Given the description of an element on the screen output the (x, y) to click on. 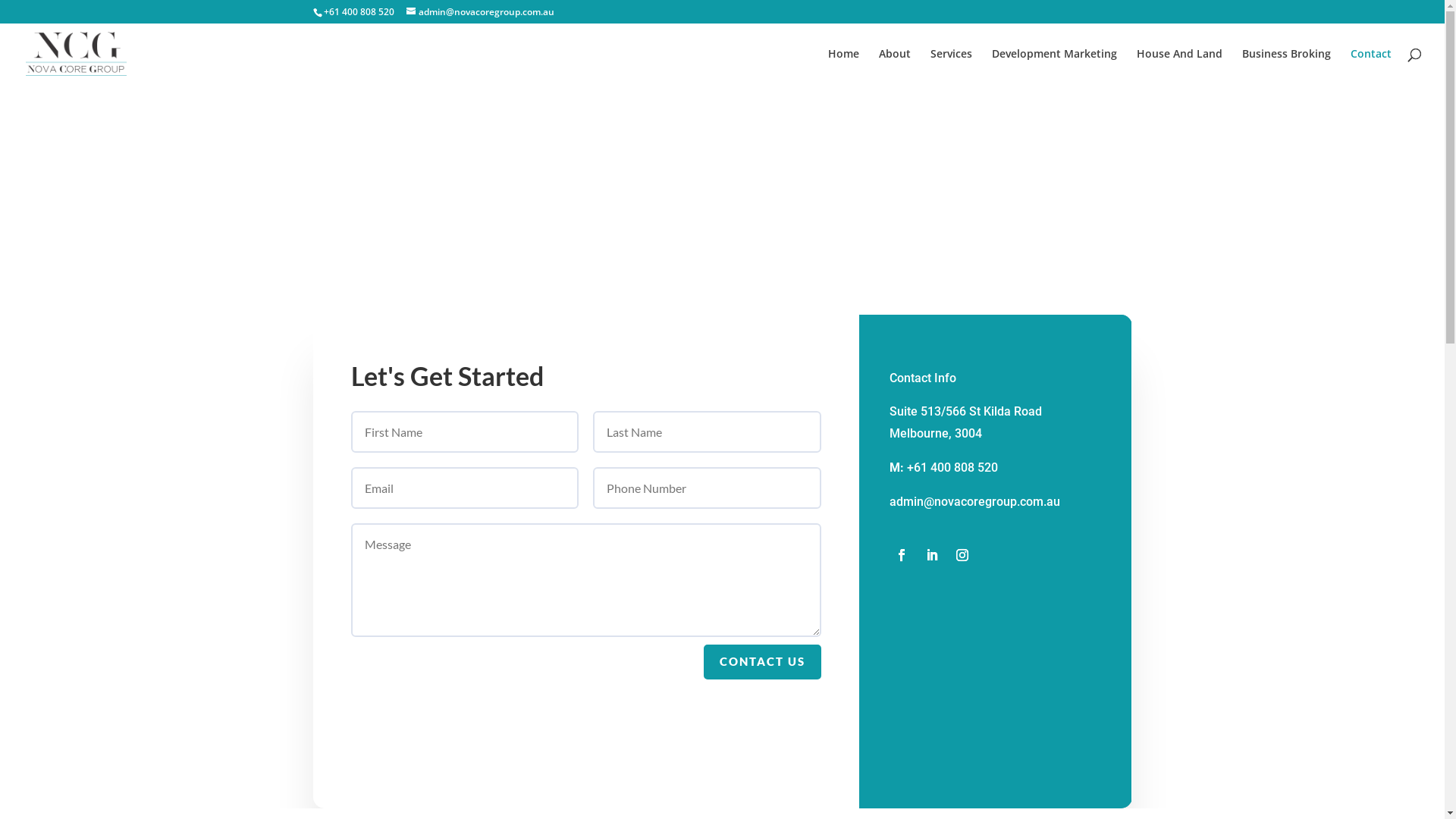
About Element type: text (894, 66)
Contact Element type: text (1370, 66)
CONTACT US Element type: text (762, 662)
admin@novacoregroup.com.au Element type: text (480, 11)
Follow on Instagram Element type: hover (961, 554)
Follow on LinkedIn Element type: hover (931, 554)
Business Broking Element type: text (1286, 66)
+61 400 808 520 Element type: text (951, 467)
House And Land Element type: text (1179, 66)
Services Element type: text (951, 66)
Development Marketing Element type: text (1054, 66)
Follow on Facebook Element type: hover (900, 554)
Home Element type: text (843, 66)
